Given the description of an element on the screen output the (x, y) to click on. 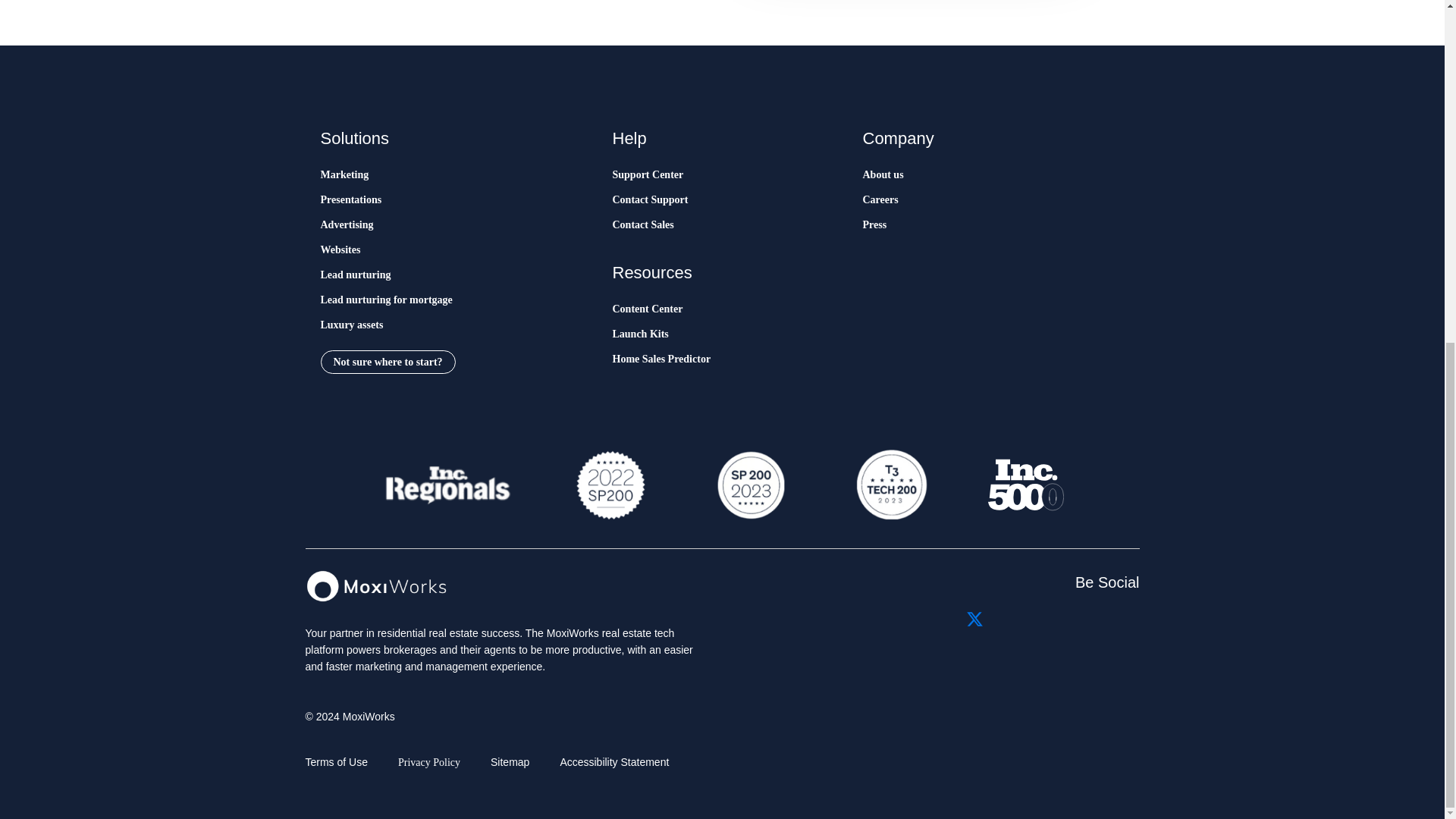
SP 2022 (610, 484)
SP 2023 (749, 484)
T3 tech 200 2023 (890, 484)
